Given the description of an element on the screen output the (x, y) to click on. 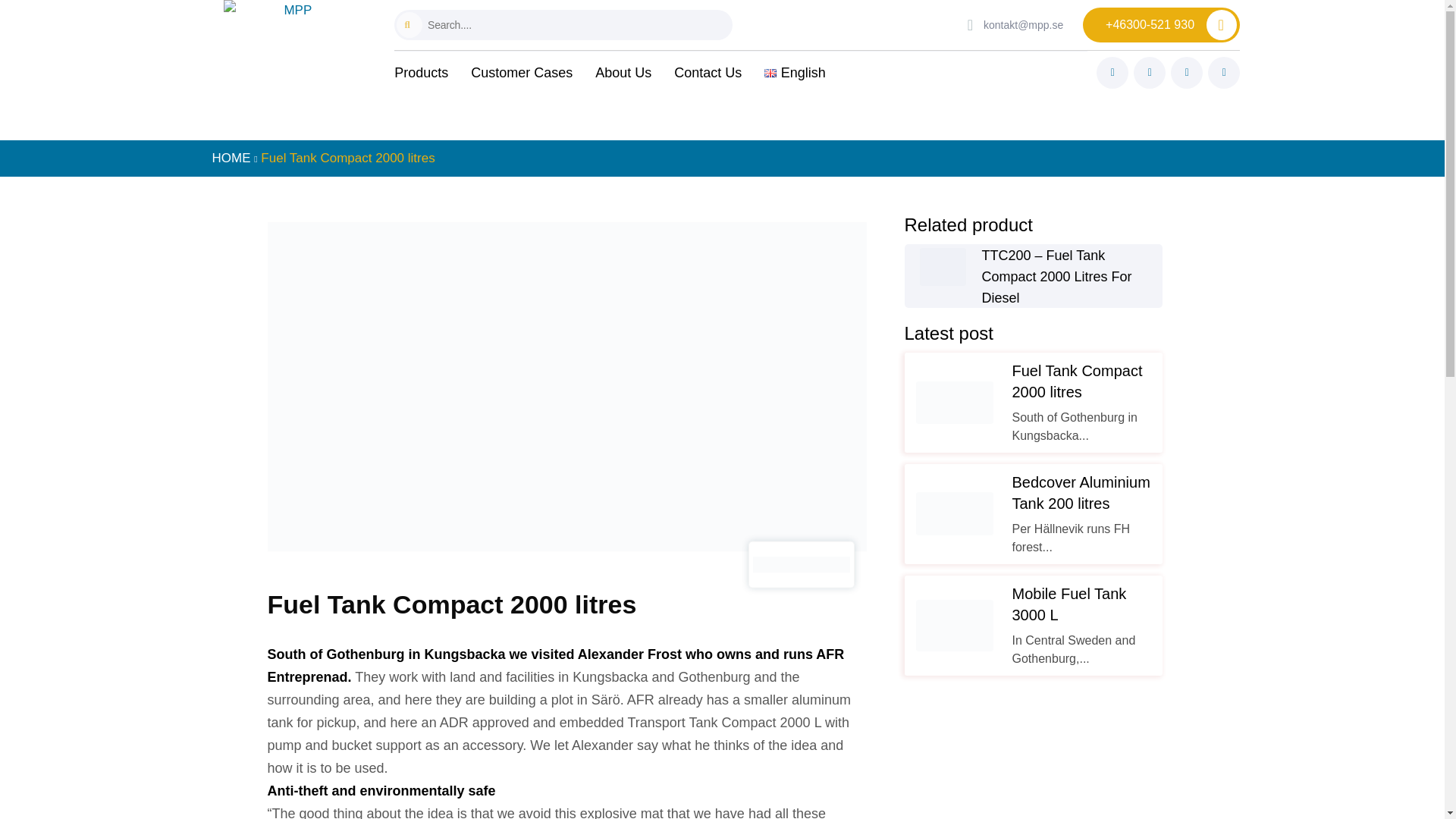
English (794, 72)
About Us (622, 72)
Customer Cases (521, 72)
Products (421, 72)
Contact Us (707, 72)
